Given the description of an element on the screen output the (x, y) to click on. 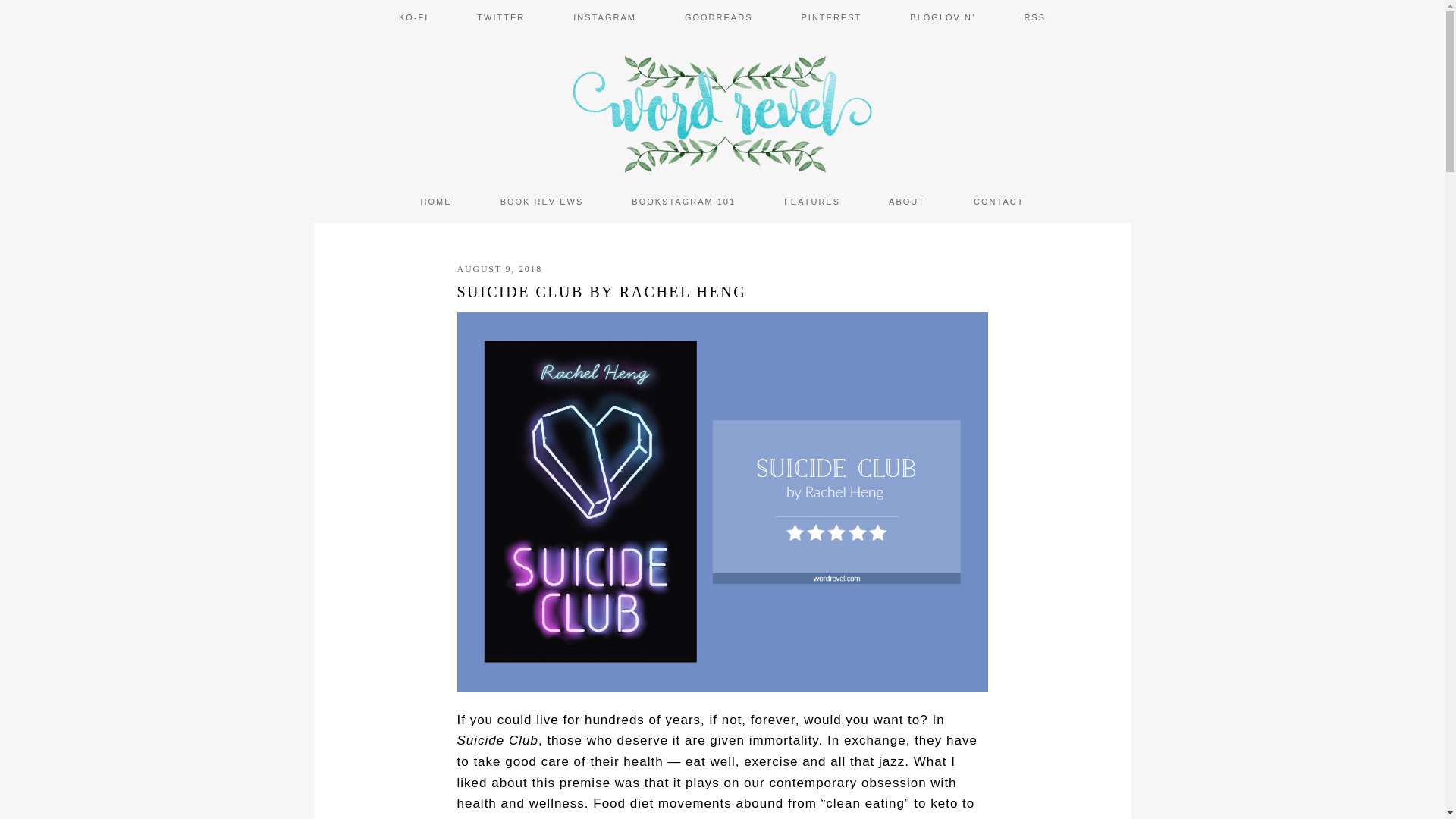
BOOK REVIEWS (542, 202)
GOODREADS (719, 18)
ABOUT (906, 202)
PINTEREST (831, 18)
WORD REVEL (722, 107)
BOOKSTAGRAM 101 (683, 202)
TWITTER (500, 18)
CONTACT (998, 202)
HOME (435, 202)
RSS (1034, 18)
